Given the description of an element on the screen output the (x, y) to click on. 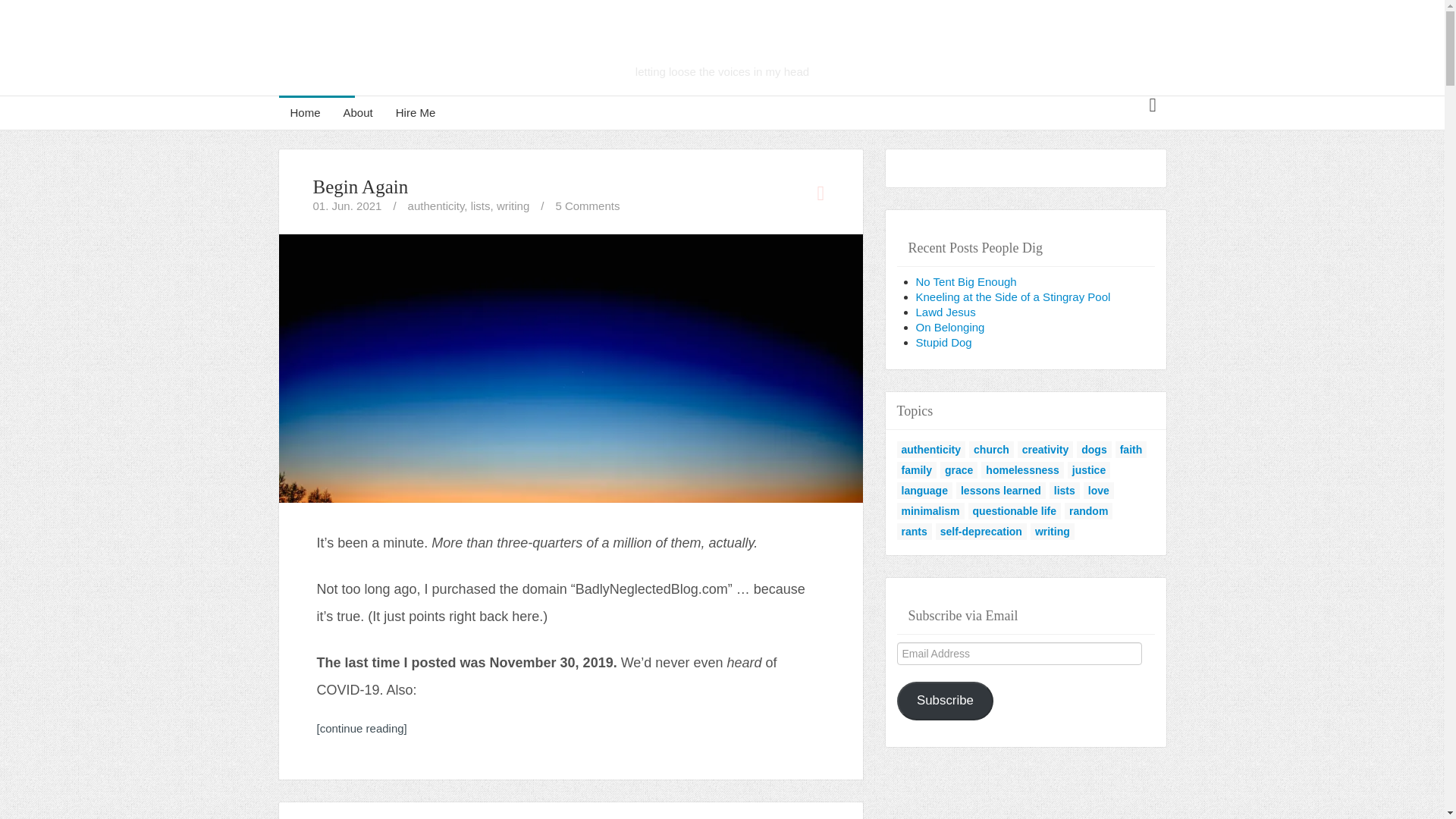
Begin Again (571, 367)
authenticity (435, 205)
Blue is a Circle (721, 47)
View all posts in lists (480, 205)
About (357, 112)
Hire Me (721, 47)
Home (415, 112)
View all posts in authenticity (305, 112)
Begin Again (435, 205)
